Given the description of an element on the screen output the (x, y) to click on. 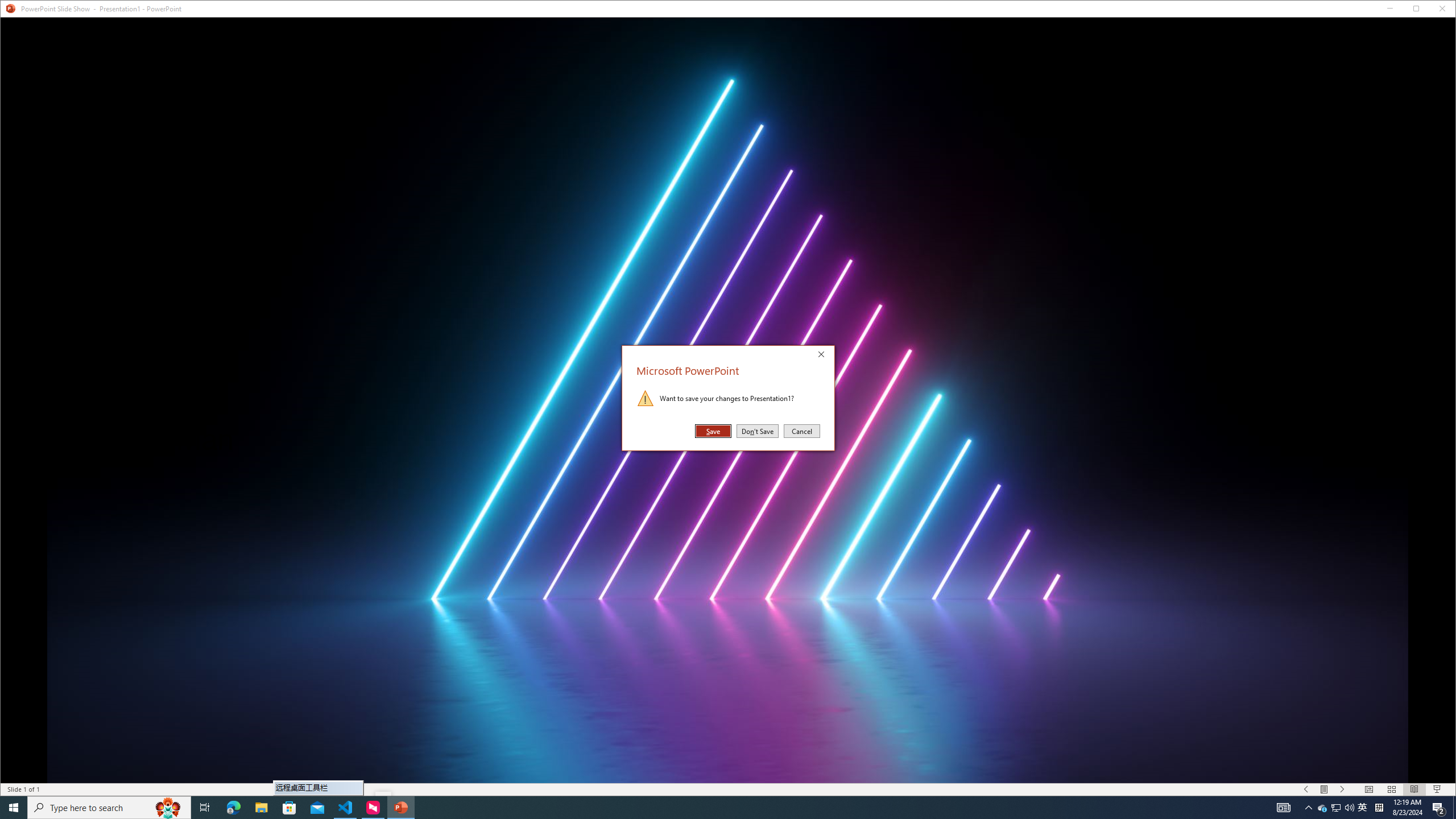
Notification Chevron (1308, 807)
Action Center, 2 new notifications (1439, 807)
AutomationID: 4105 (1283, 807)
Visual Studio Code - 1 running window (1322, 807)
Tray Input Indicator - Chinese (Simplified, China) (345, 807)
